Given the description of an element on the screen output the (x, y) to click on. 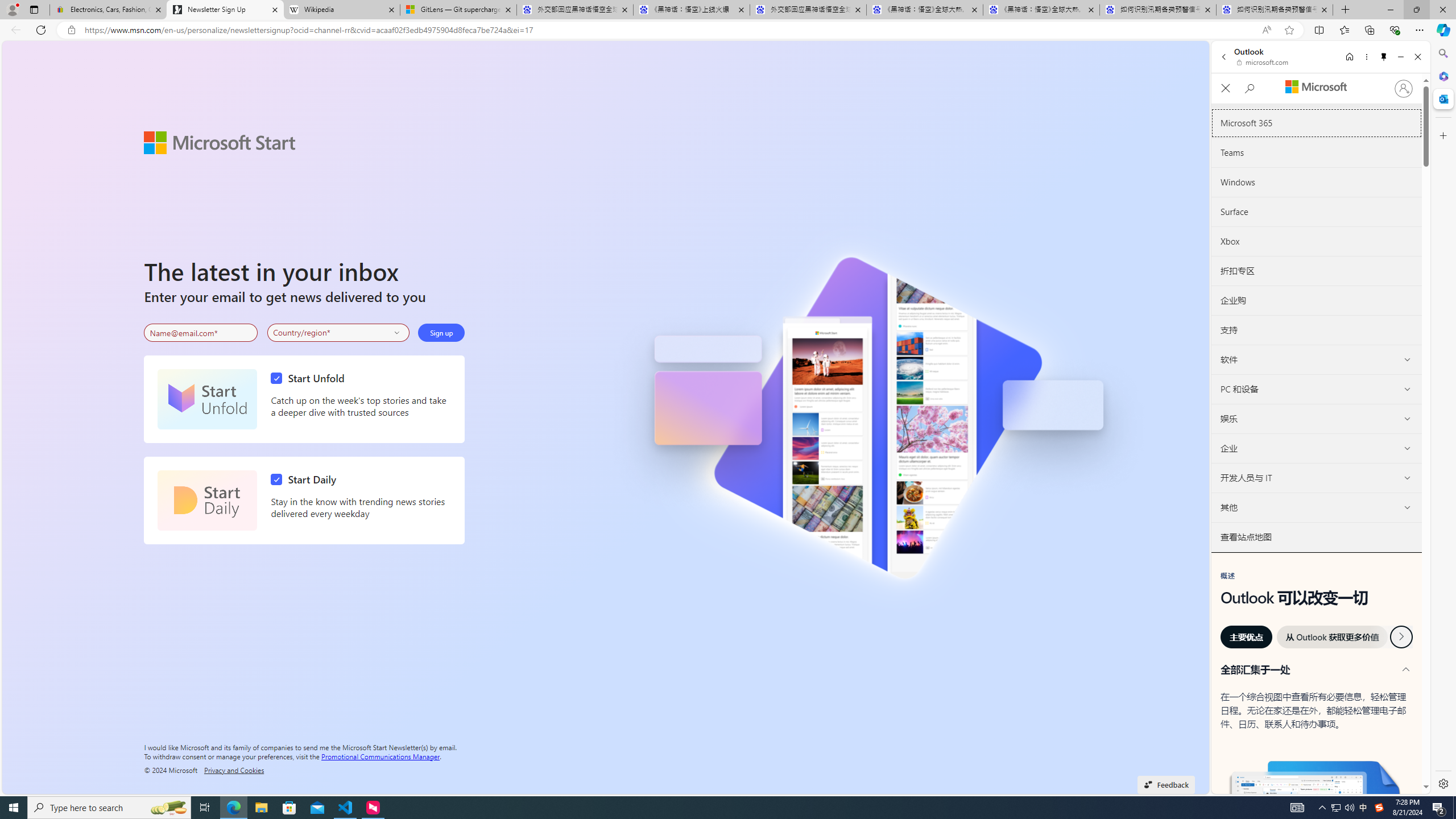
Privacy and Cookies (233, 769)
Windows (1316, 182)
